Given the description of an element on the screen output the (x, y) to click on. 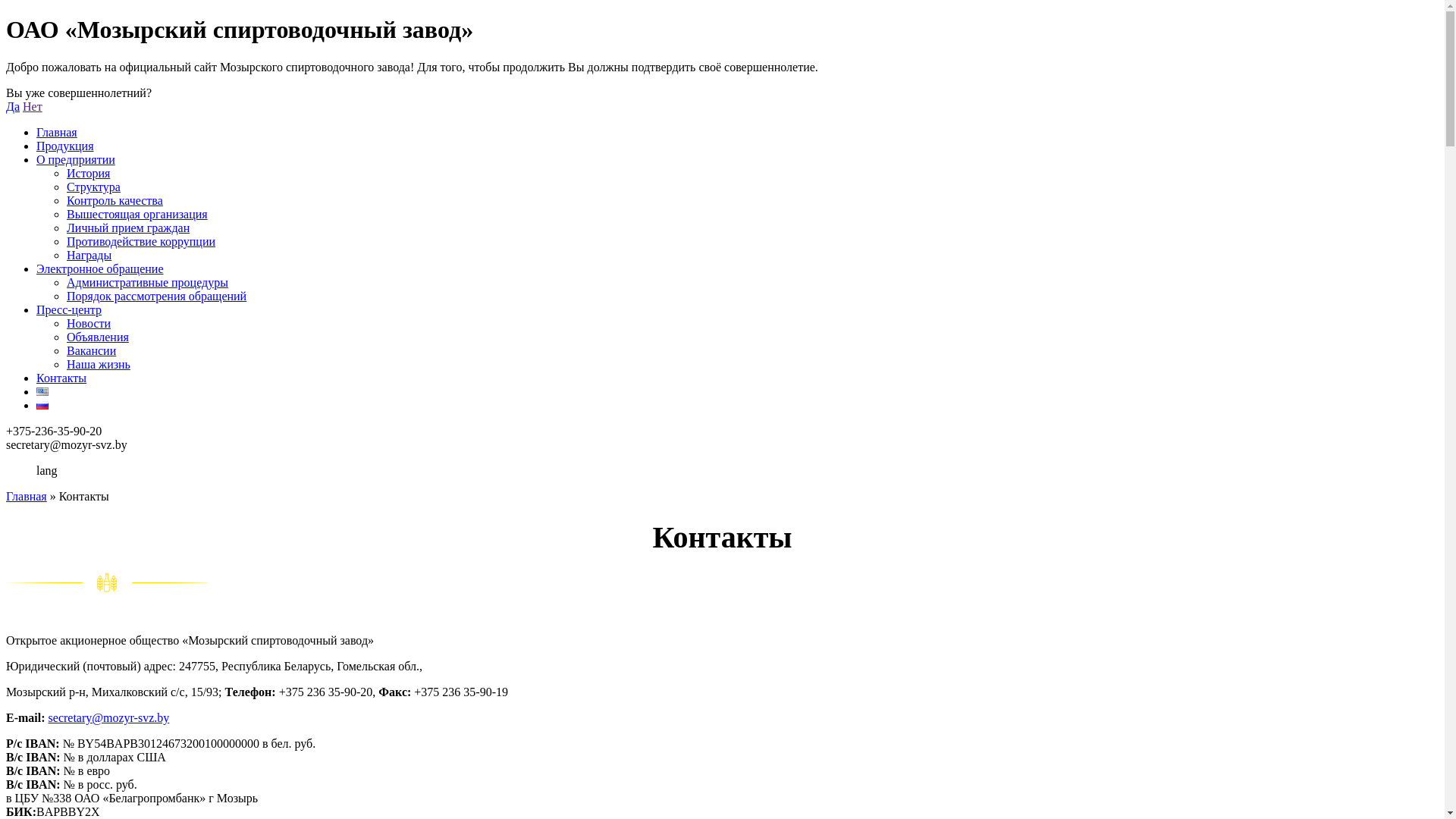
secretary@mozyr-svz.by Element type: text (108, 717)
